Given the description of an element on the screen output the (x, y) to click on. 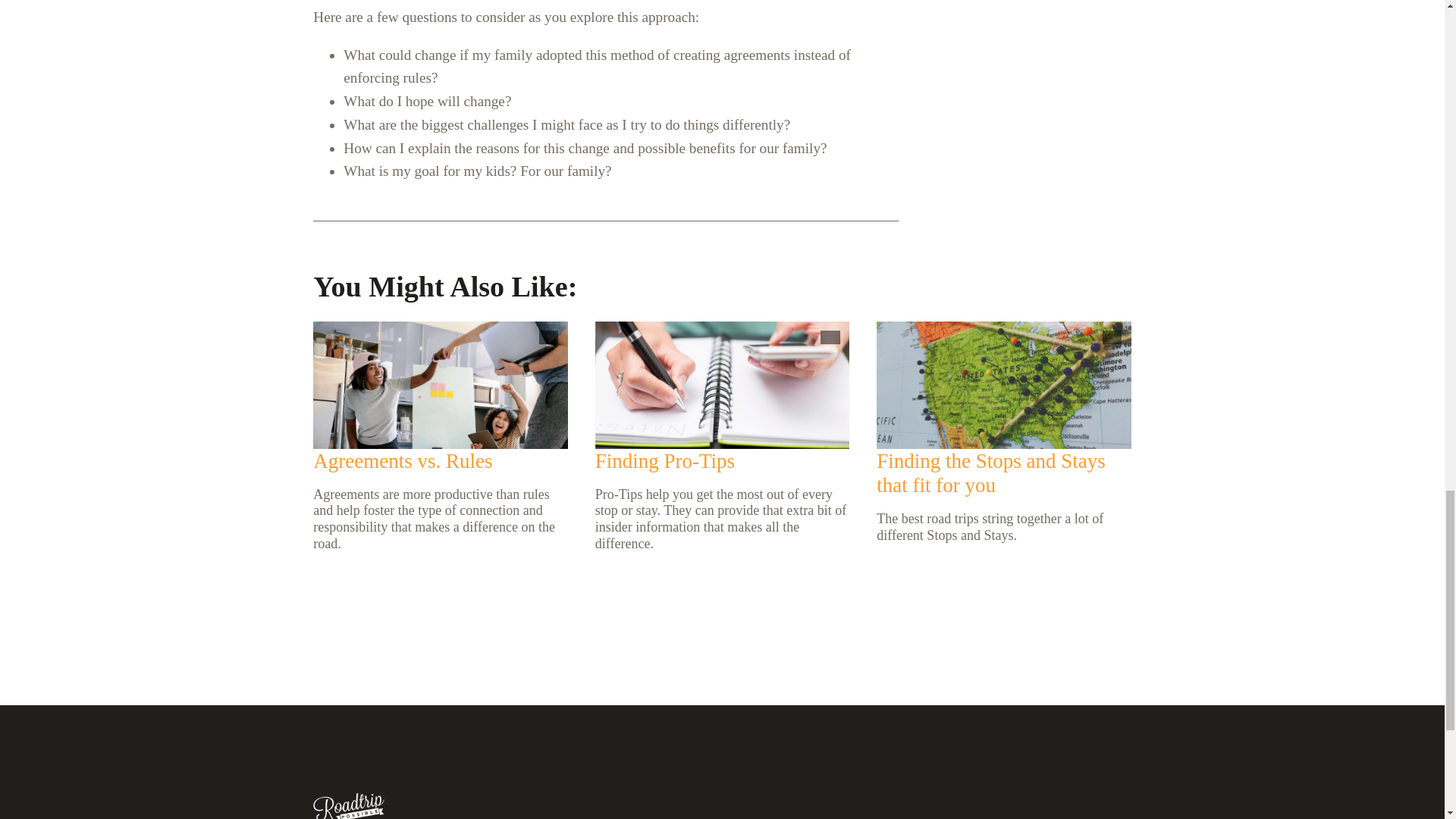
Finding the Stops and Stays that fit for you (990, 472)
Agreements vs. Rules (402, 459)
Finding Pro-Tips (665, 459)
